Given the description of an element on the screen output the (x, y) to click on. 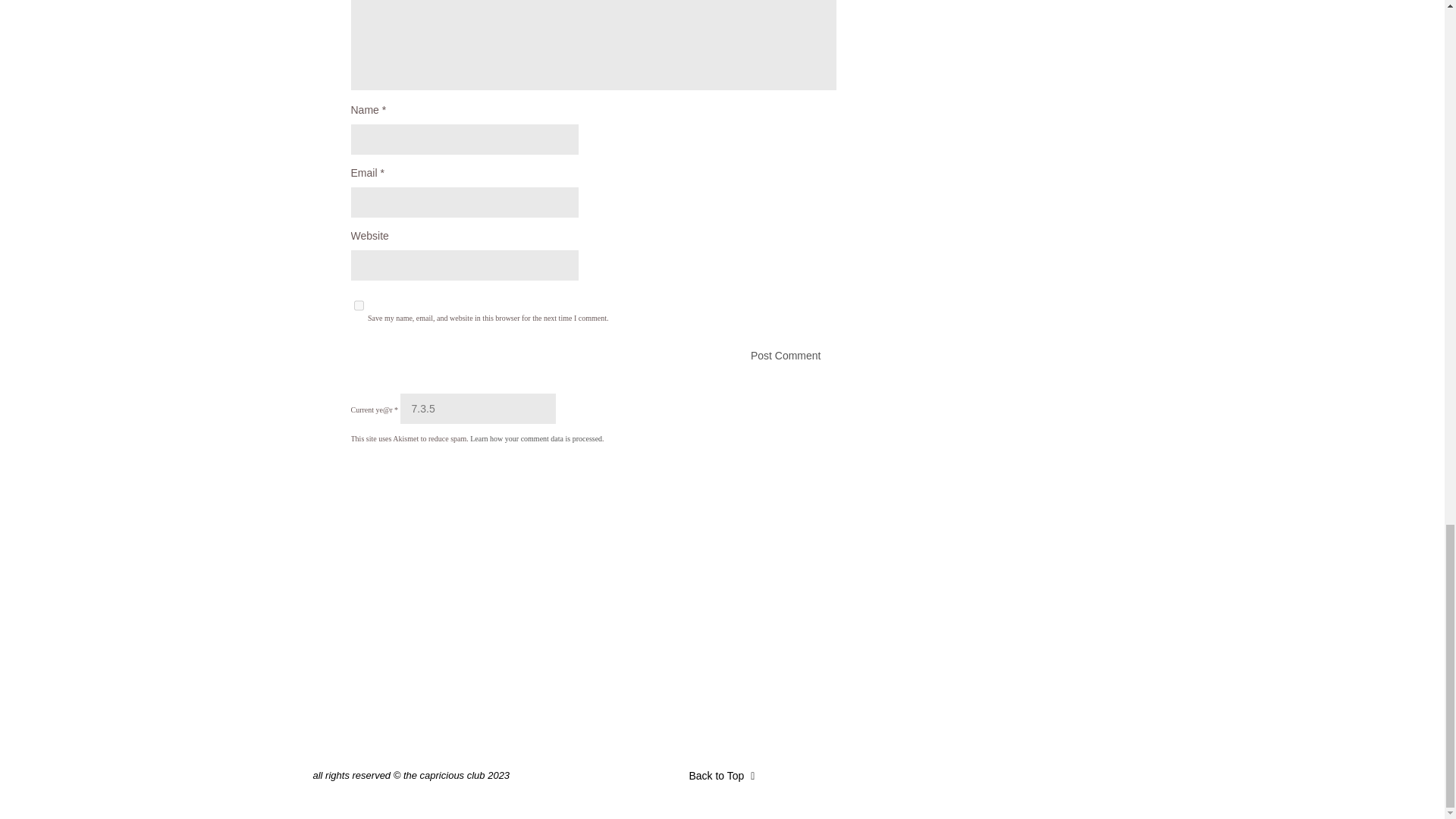
7.3.5 (478, 408)
Post Comment (592, 355)
Post Comment (592, 355)
Learn how your comment data is processed (536, 438)
